Given the description of an element on the screen output the (x, y) to click on. 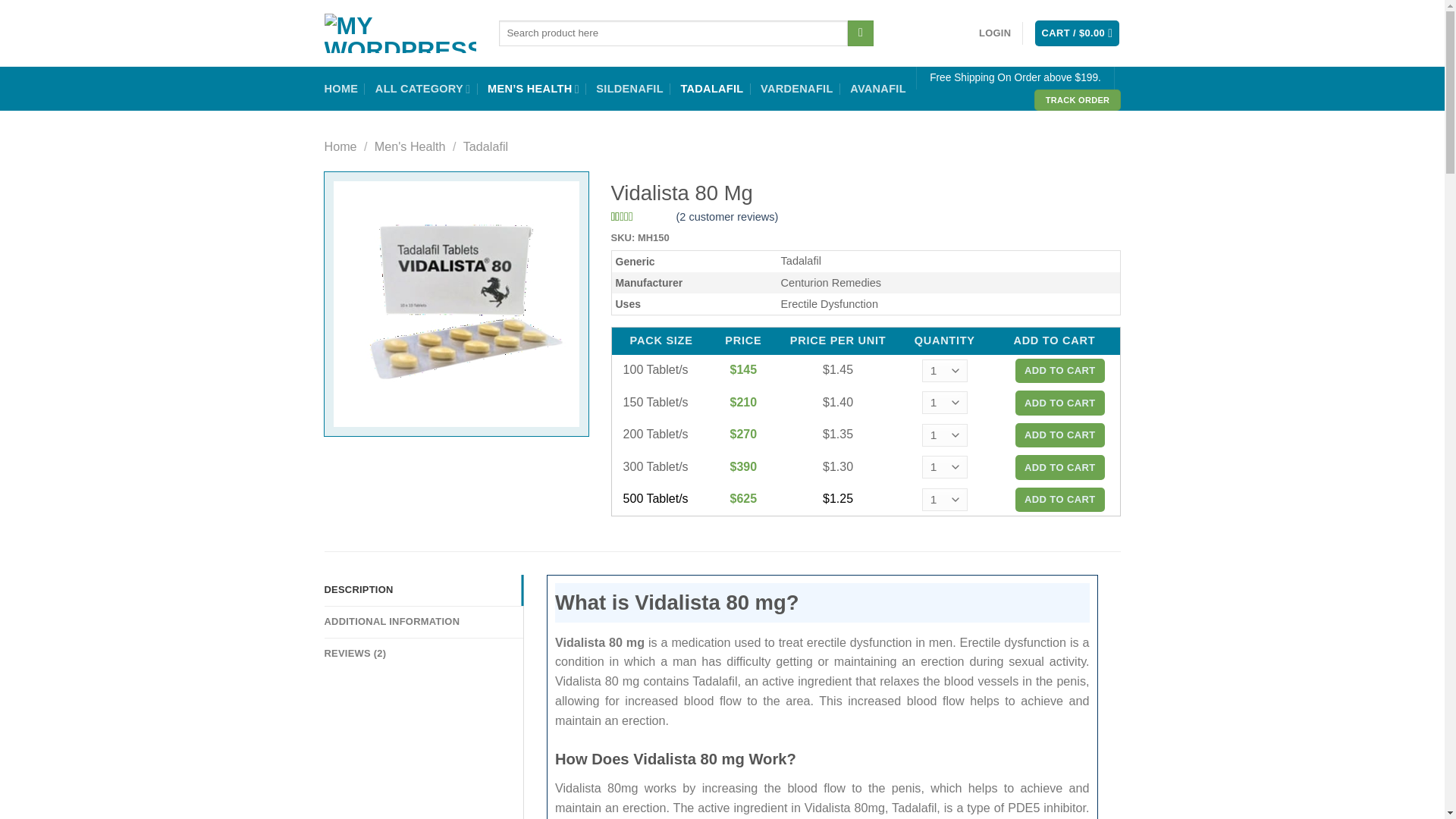
LOGIN (994, 32)
Search (859, 32)
Cart (1077, 32)
My WordPress - Just another WordPress site (400, 32)
Vidalista 80 Mg 1 (456, 303)
HOME (341, 89)
ALL CATEGORY (422, 89)
